Given the description of an element on the screen output the (x, y) to click on. 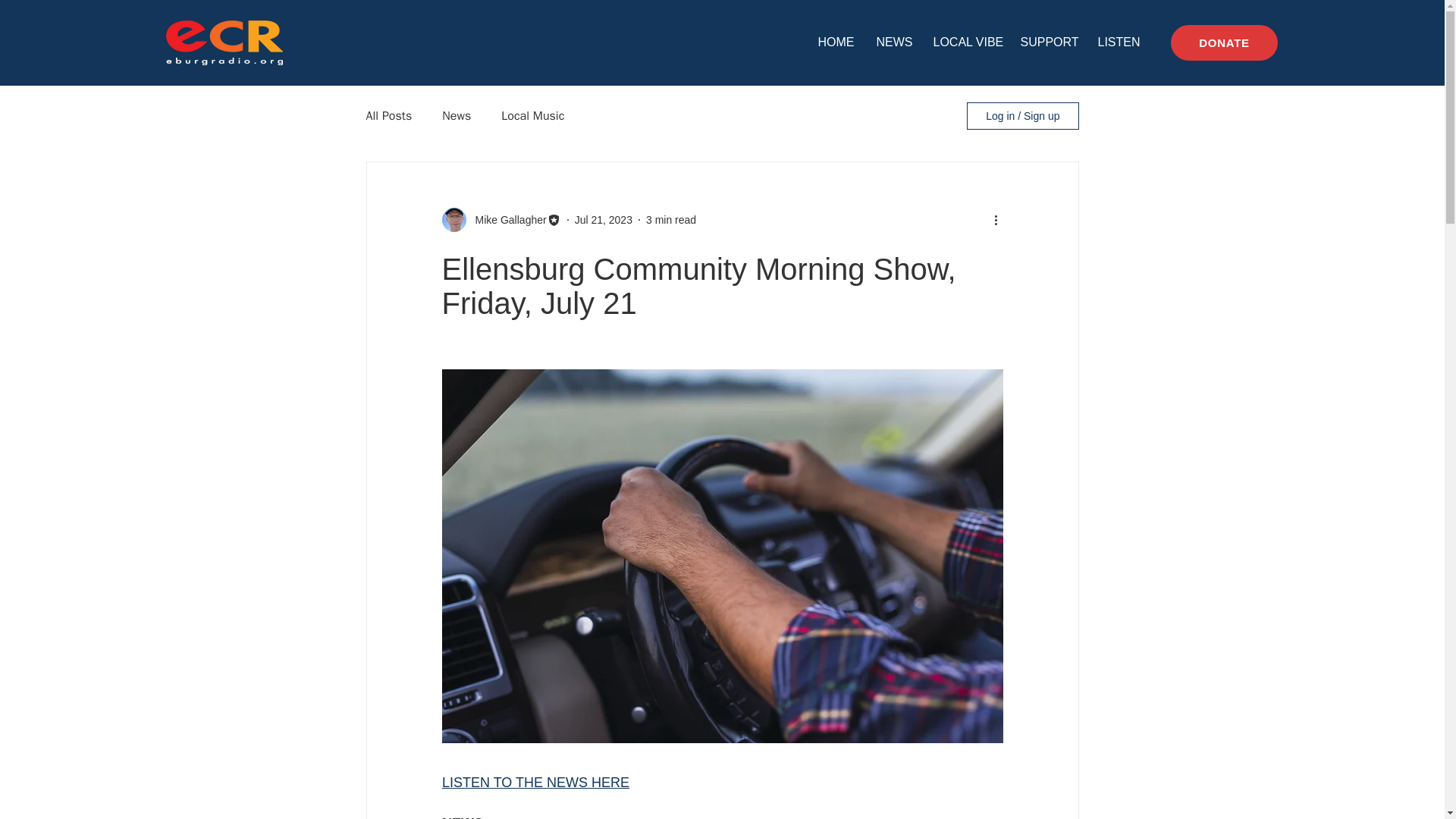
News (456, 115)
Mike Gallagher (505, 220)
LISTEN (1116, 42)
All Posts (388, 115)
topbar-logo.png (223, 42)
3 min read (670, 219)
NEWS (892, 42)
HOME (835, 42)
DONATE (1224, 42)
LISTEN TO THE NEWS HERE (534, 782)
